Given the description of an element on the screen output the (x, y) to click on. 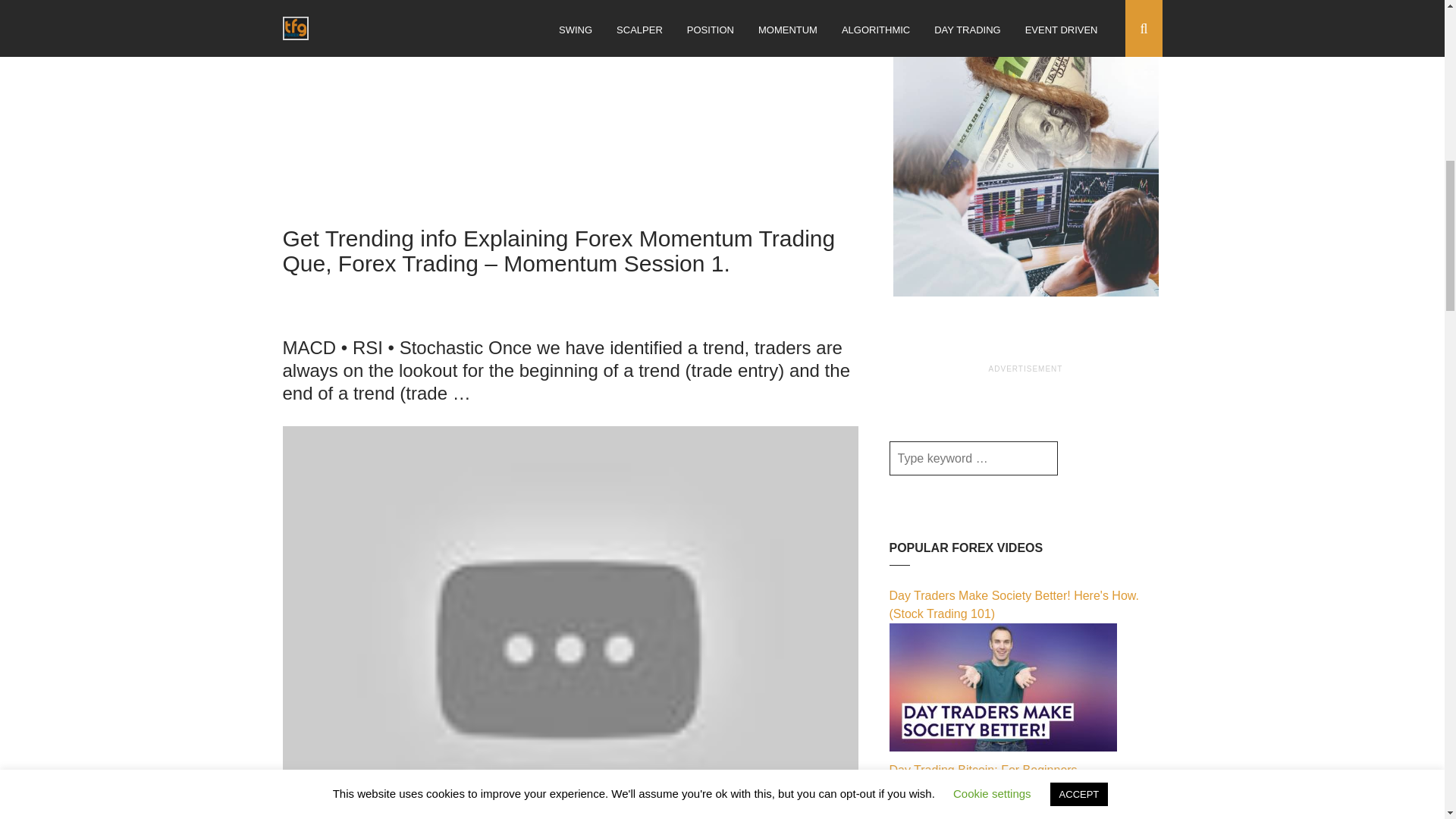
Search for: (972, 458)
